Given the description of an element on the screen output the (x, y) to click on. 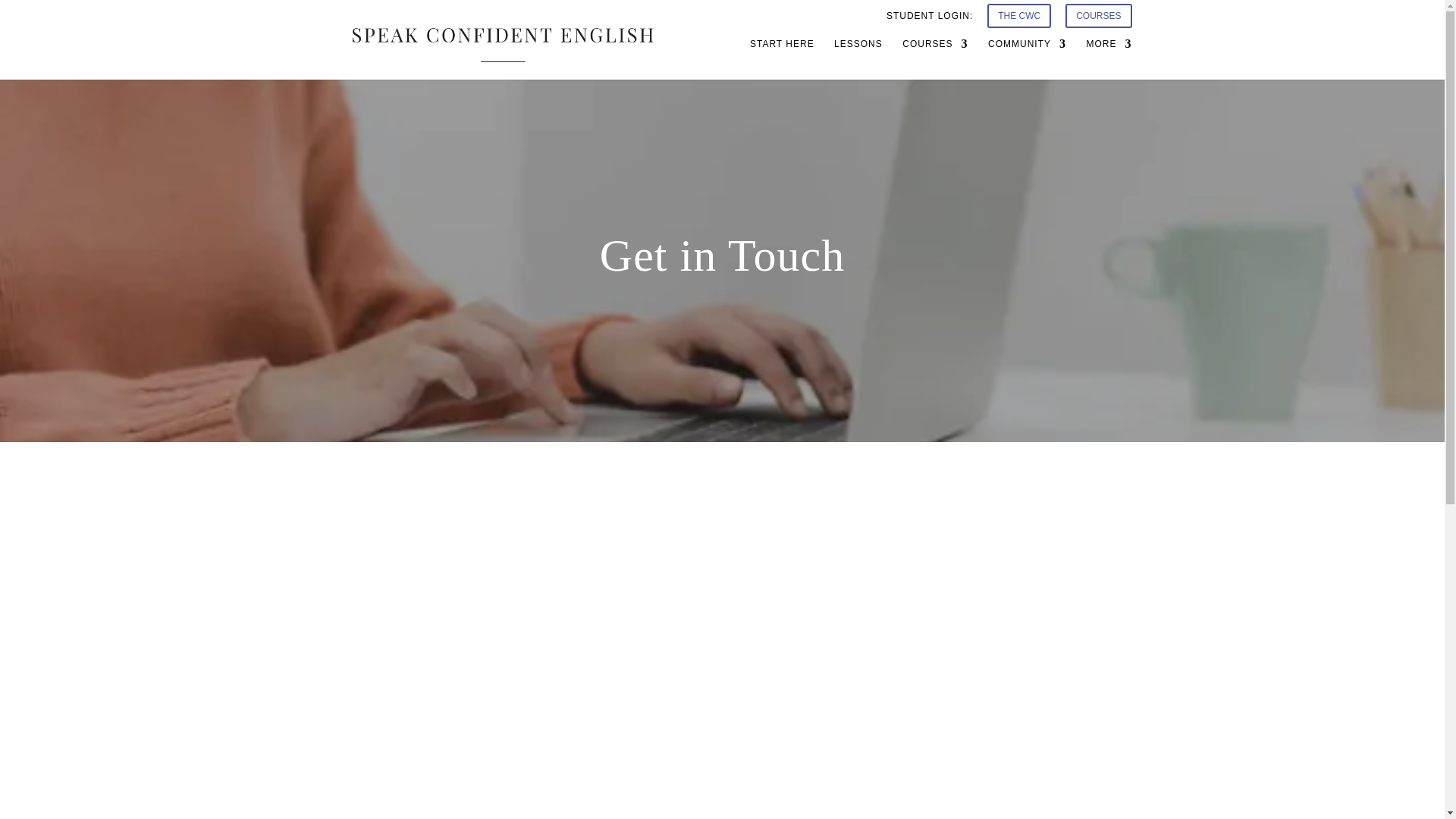
COURSES (935, 57)
COURSES (1098, 20)
COMMUNITY (1026, 57)
THE CWC (1019, 20)
START HERE (781, 57)
MORE (1108, 57)
LESSONS (858, 57)
STUDENT LOGIN: (929, 19)
